Given the description of an element on the screen output the (x, y) to click on. 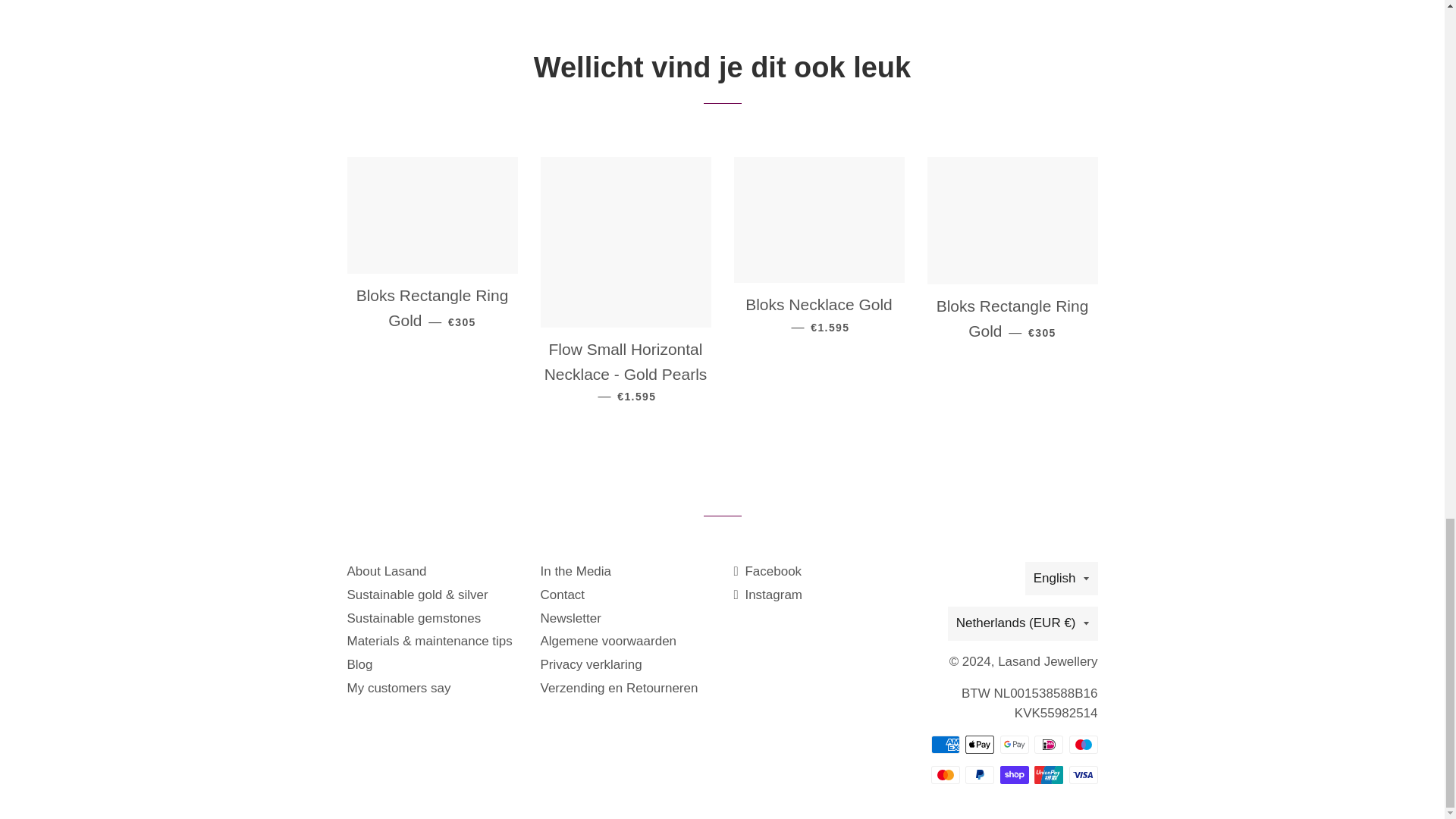
Maestro (1082, 744)
PayPal (979, 774)
Mastercard (945, 774)
Shop Pay (1012, 774)
Visa (1082, 774)
Apple Pay (979, 744)
Google Pay (1012, 744)
Union Pay (1047, 774)
iDEAL (1047, 744)
American Express (945, 744)
Lasand Jewellery on Facebook (767, 571)
Lasand Jewellery on Instagram (768, 594)
